Given the description of an element on the screen output the (x, y) to click on. 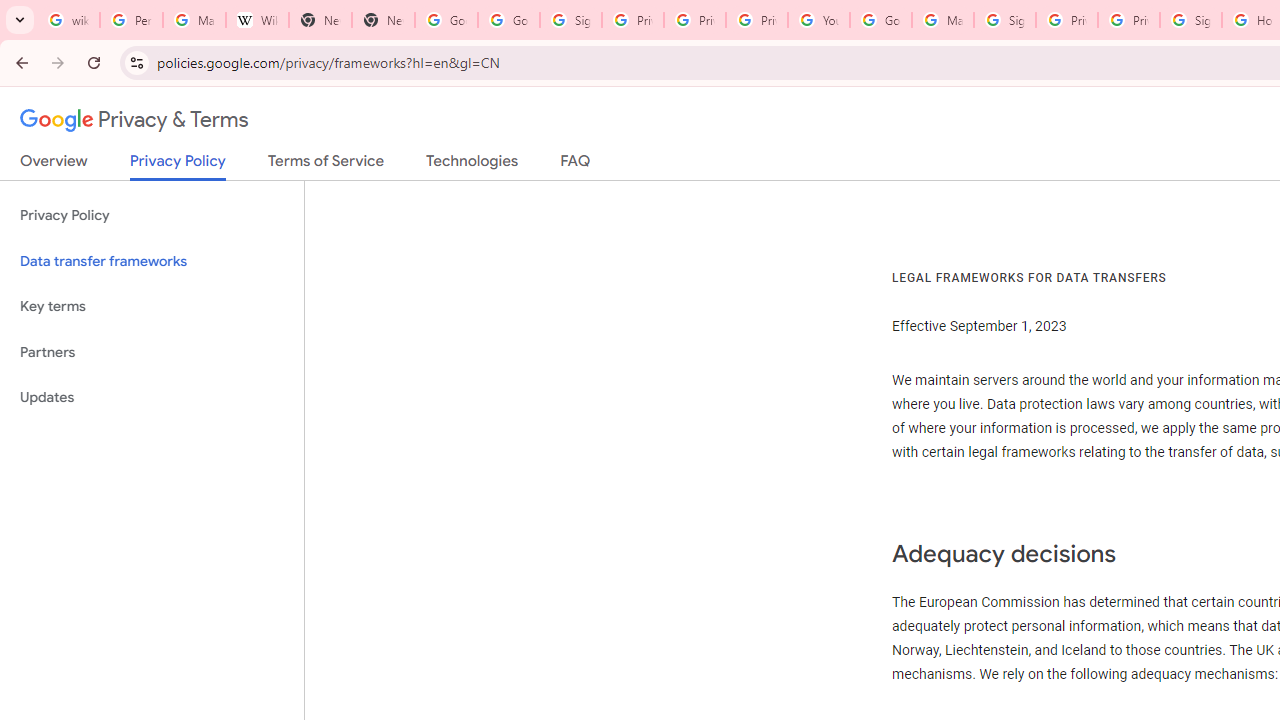
Sign in - Google Accounts (1190, 20)
Personalization & Google Search results - Google Search Help (130, 20)
New Tab (383, 20)
Wikipedia:Edit requests - Wikipedia (257, 20)
